Given the description of an element on the screen output the (x, y) to click on. 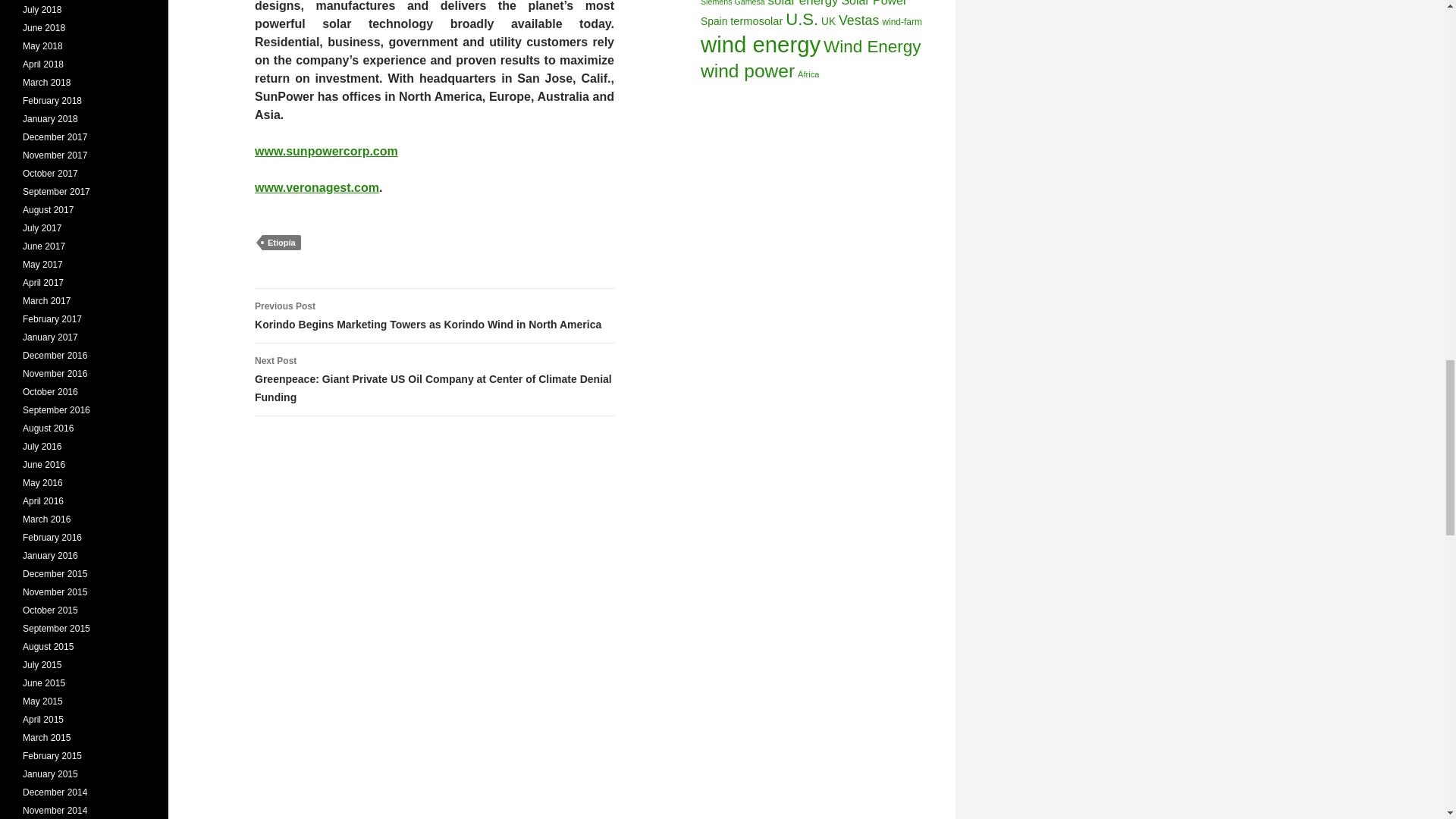
www.veronagest.com (316, 187)
www.sunpowercorp.com (325, 151)
